Given the description of an element on the screen output the (x, y) to click on. 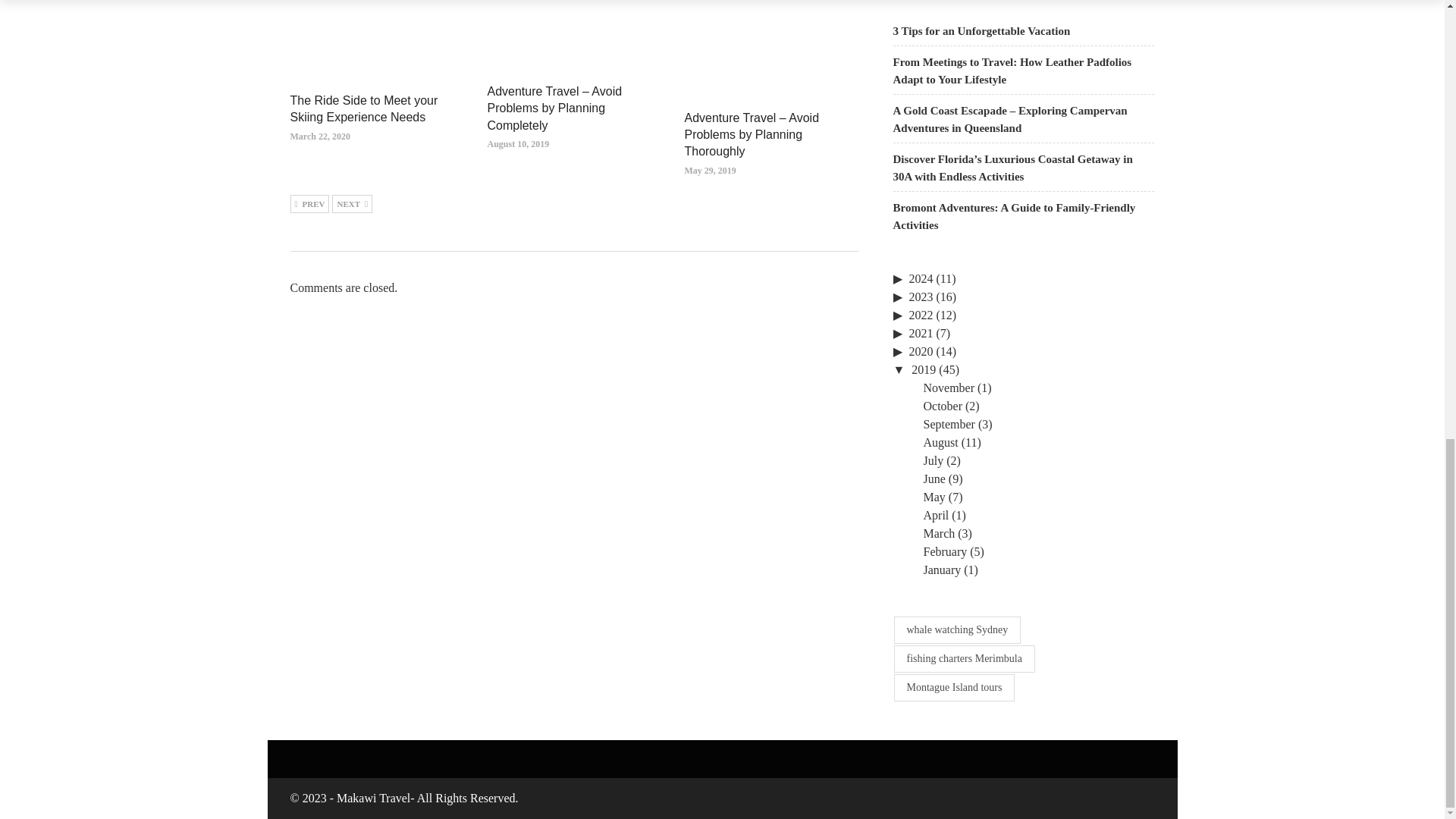
Previous (309, 203)
Next (351, 203)
The Ride Side to Meet your Skiing Experience Needs (363, 108)
